Given the description of an element on the screen output the (x, y) to click on. 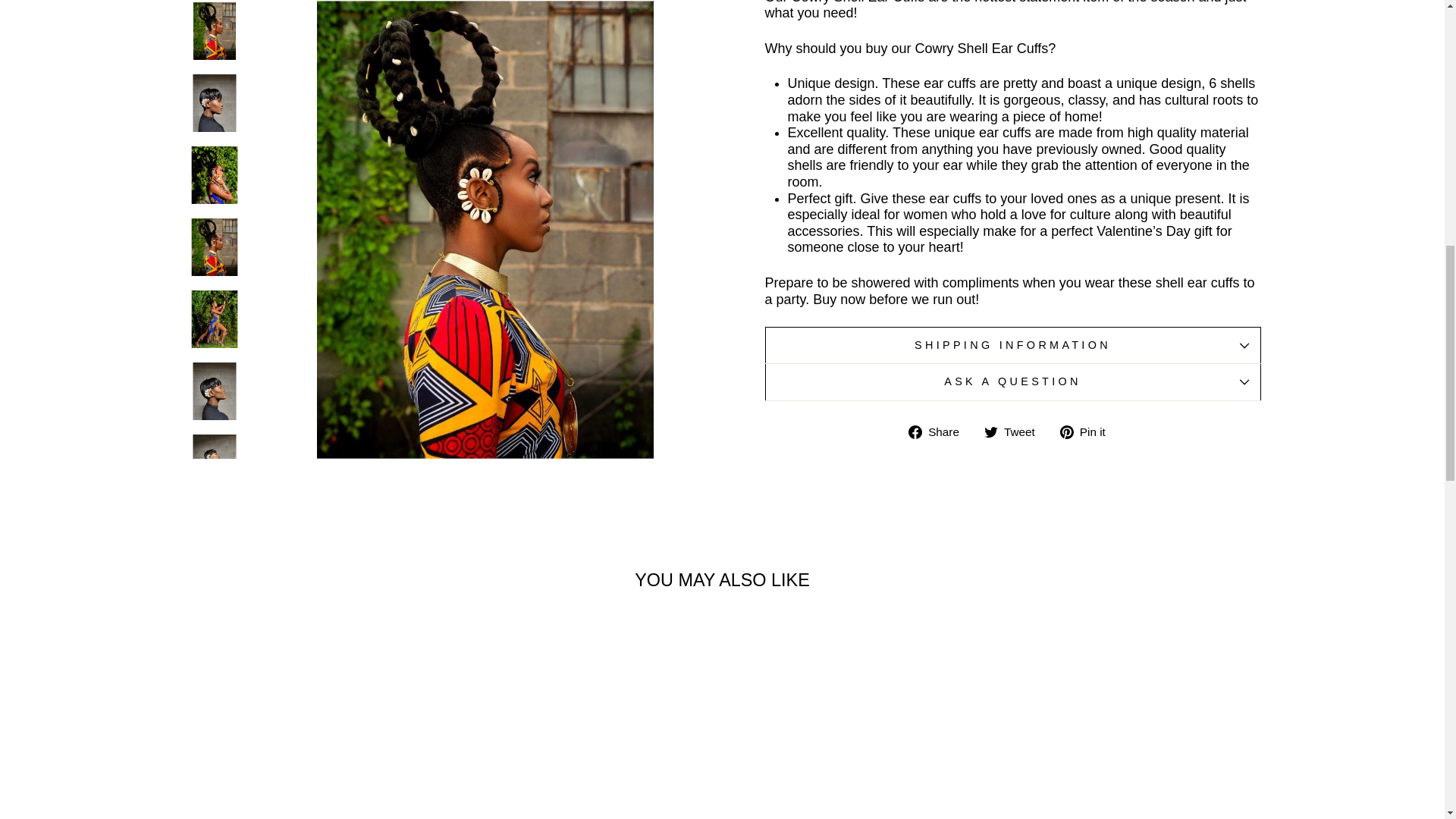
Share on Facebook (939, 432)
twitter (990, 431)
Pin on Pinterest (1087, 432)
Tweet on Twitter (1015, 432)
